Given the description of an element on the screen output the (x, y) to click on. 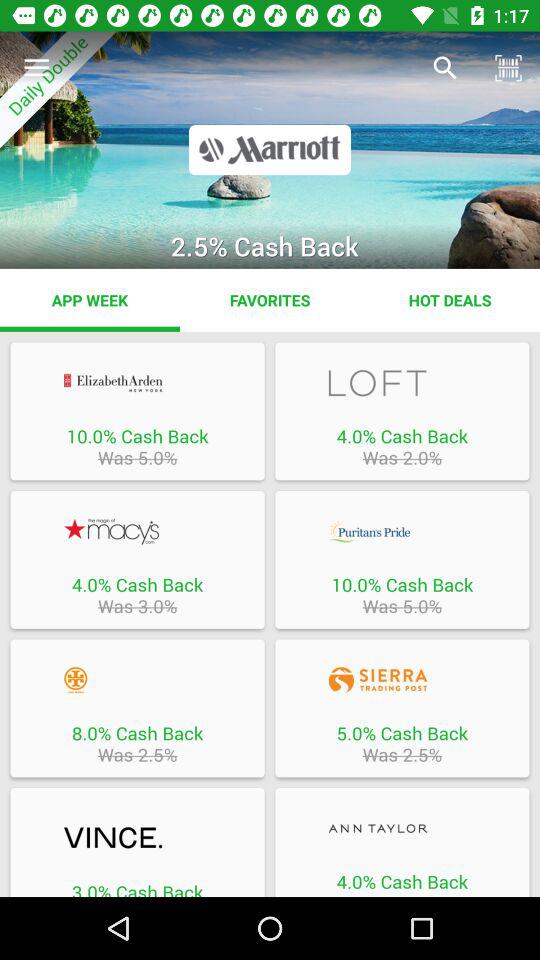
flip until app week (90, 299)
